Given the description of an element on the screen output the (x, y) to click on. 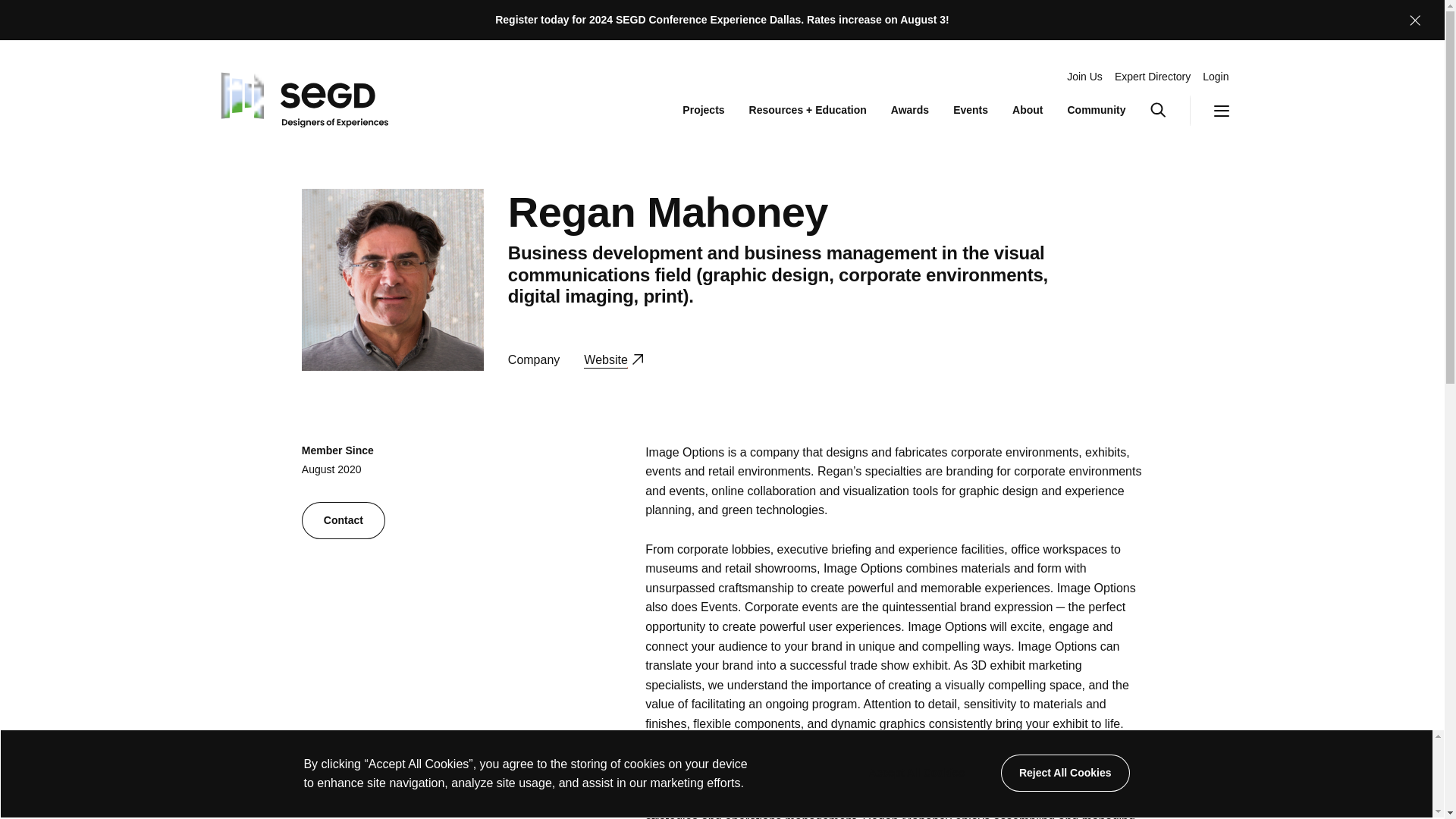
Accept All Cookies (916, 772)
Projects (702, 110)
Login (1215, 76)
Events (970, 110)
Join Us (1084, 76)
Expert Directory (1153, 76)
Home (301, 95)
Community (1096, 110)
Awards (909, 110)
